Given the description of an element on the screen output the (x, y) to click on. 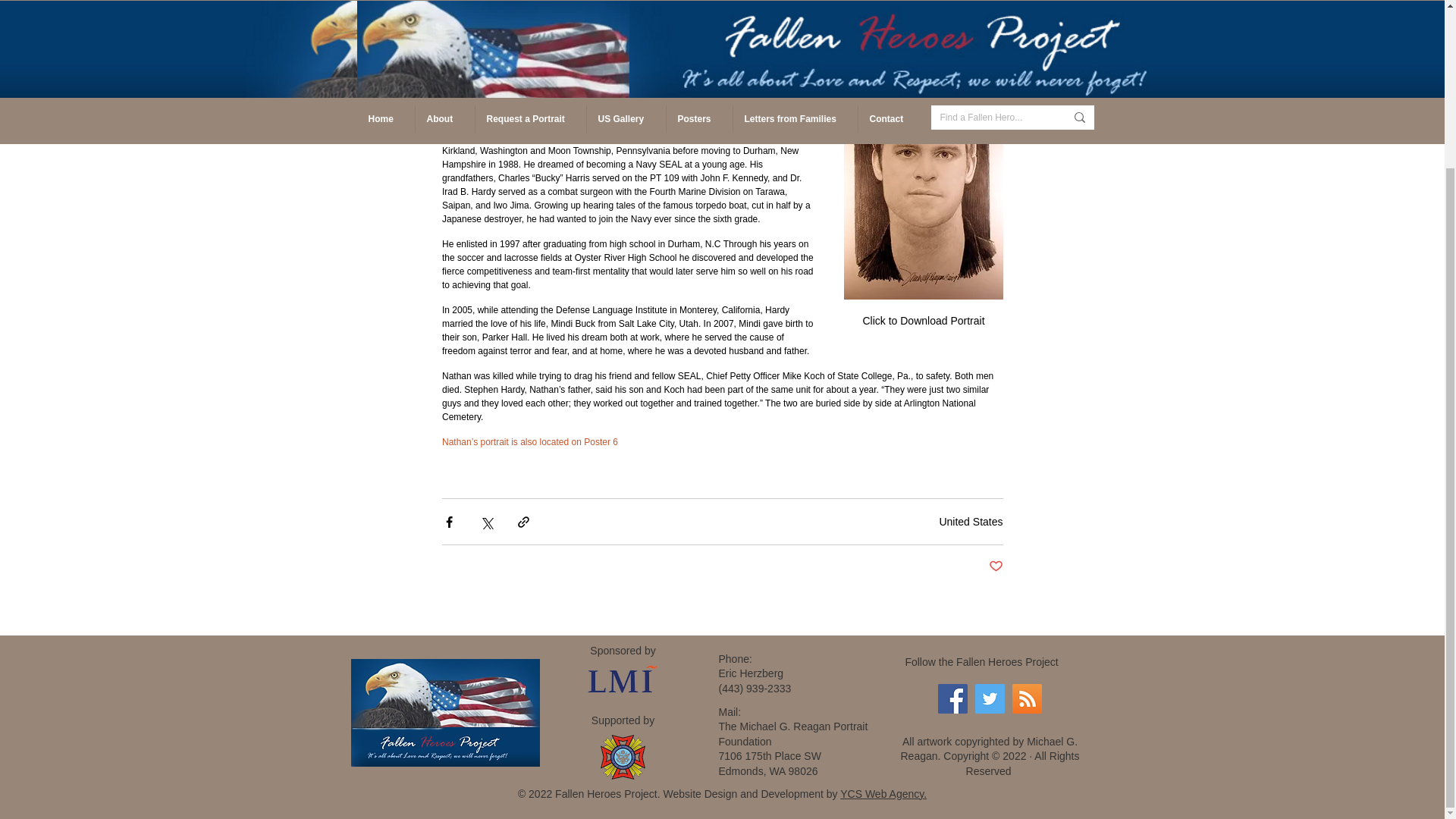
United States (971, 521)
YCS Web Agency. (883, 793)
Post not marked as liked (995, 566)
